Given the description of an element on the screen output the (x, y) to click on. 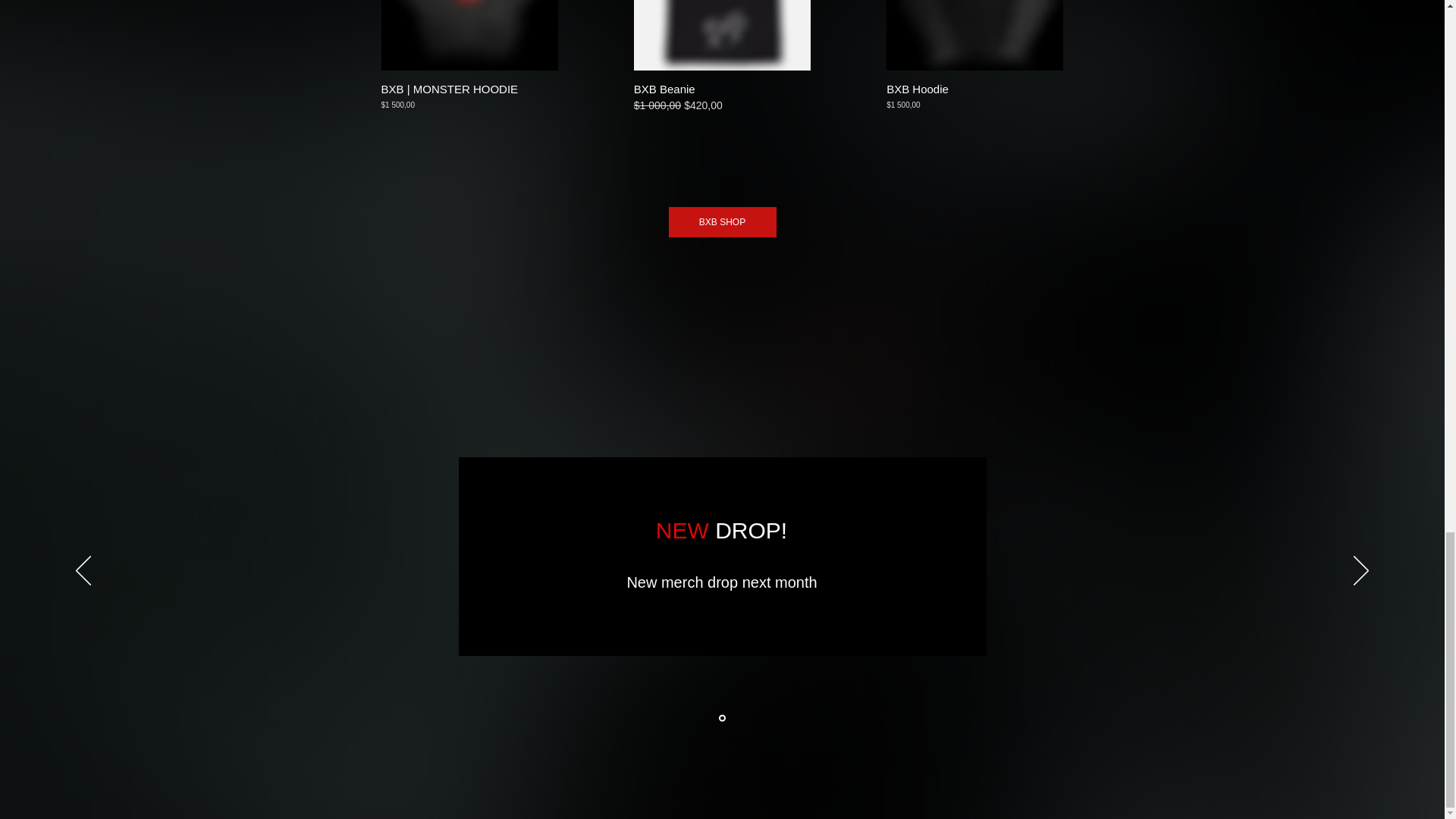
BXB SHOP (722, 222)
